Given the description of an element on the screen output the (x, y) to click on. 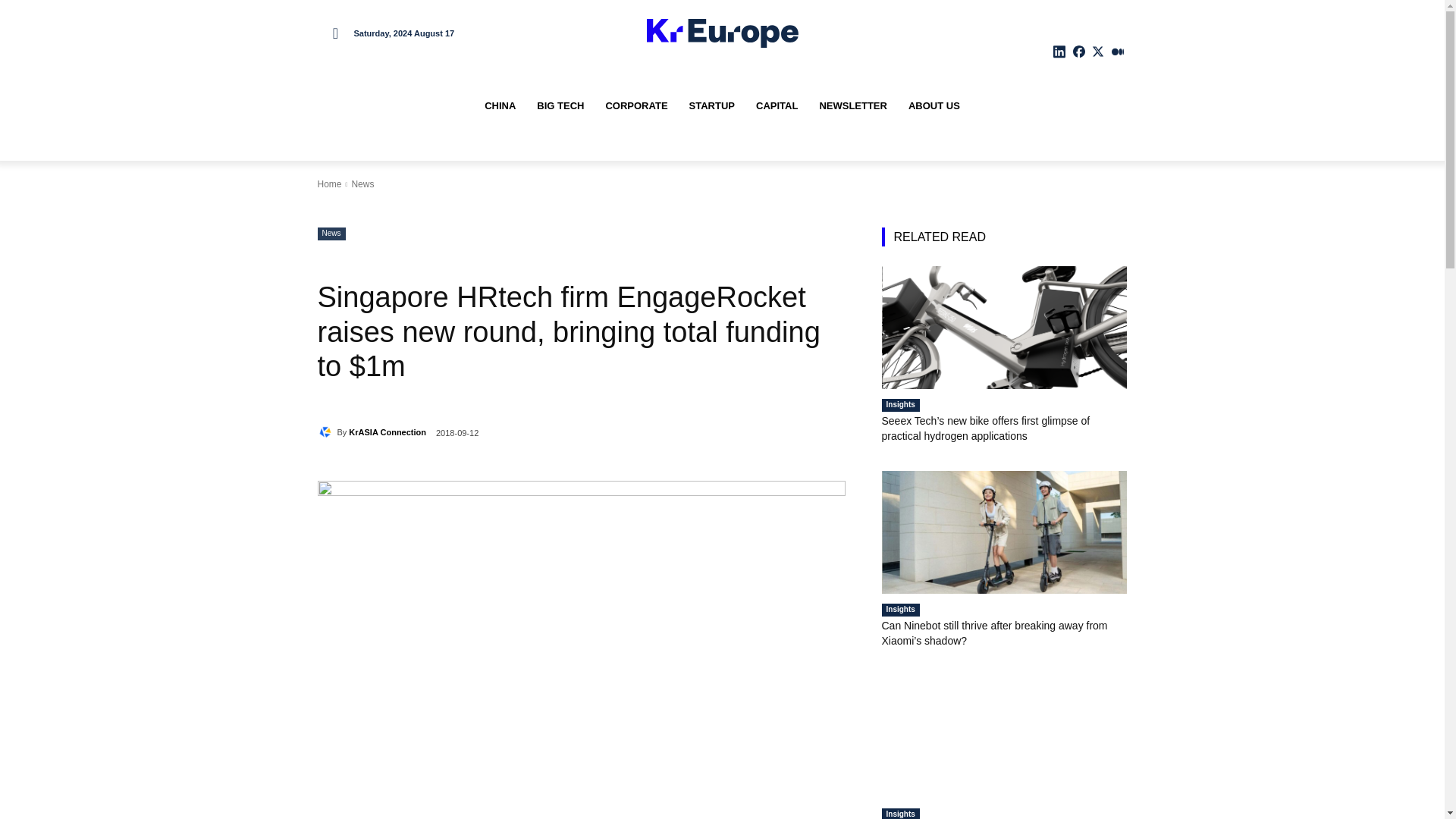
Home (328, 184)
News (331, 233)
STARTUP (711, 105)
CAPITAL (776, 105)
BIG TECH (559, 105)
NEWSLETTER (853, 105)
CHINA (499, 105)
KrASIA Connection (326, 432)
ABOUT US (934, 105)
